Given the description of an element on the screen output the (x, y) to click on. 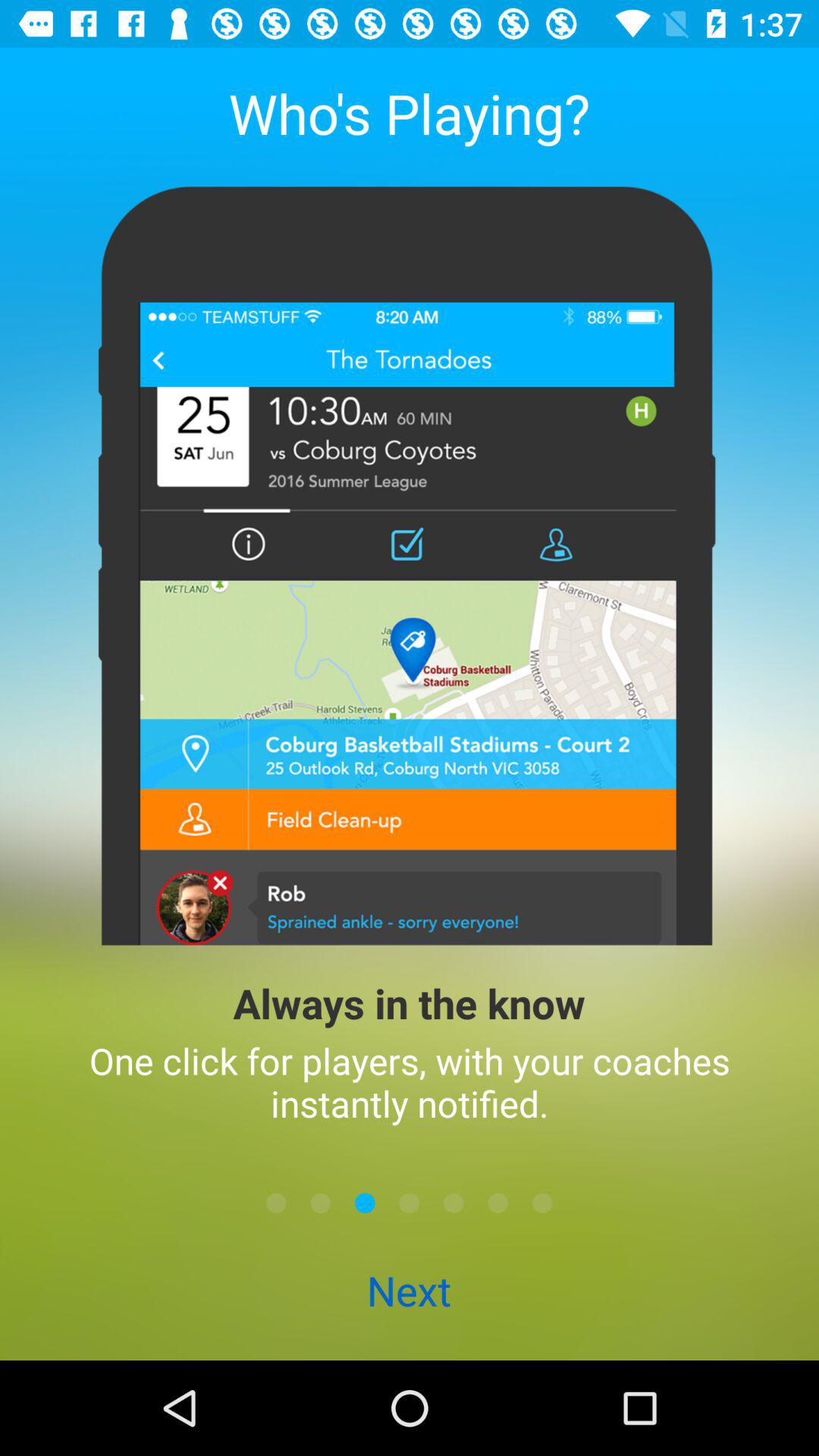
with this you can scroll to the right side to see more information (542, 1203)
